Given the description of an element on the screen output the (x, y) to click on. 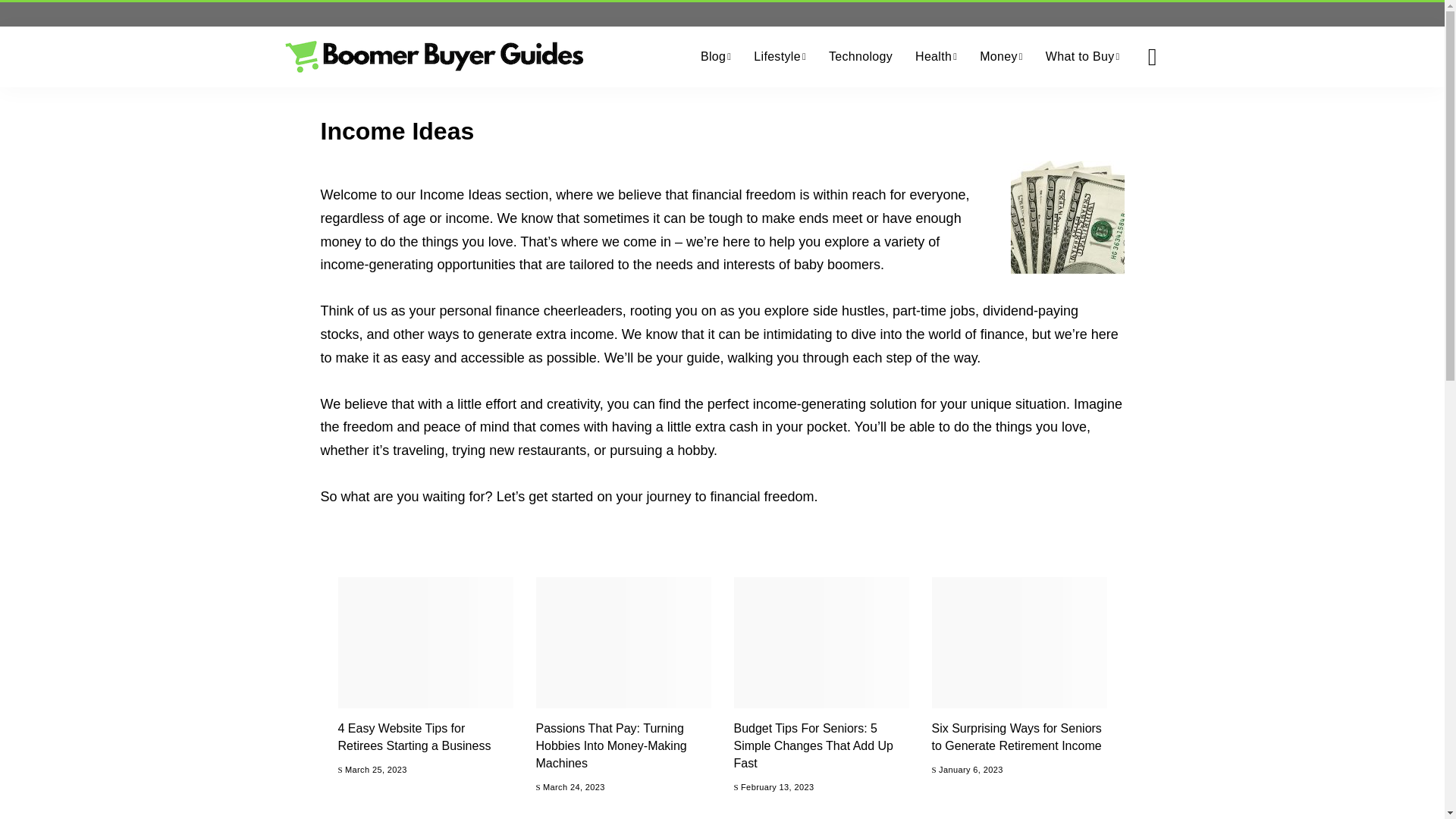
Budget Tips For Seniors: 5 Simple Changes That Add Up Fast (820, 642)
4 Easy Website Tips for Retirees Starting a Business (425, 642)
2023-03-24T06:23:01-07:00 (574, 786)
4 Easy Website Tips for Retirees Starting a Business (414, 736)
2023-03-25T09:20:09-07:00 (376, 769)
Boomer Buyer Guides (433, 56)
